Given the description of an element on the screen output the (x, y) to click on. 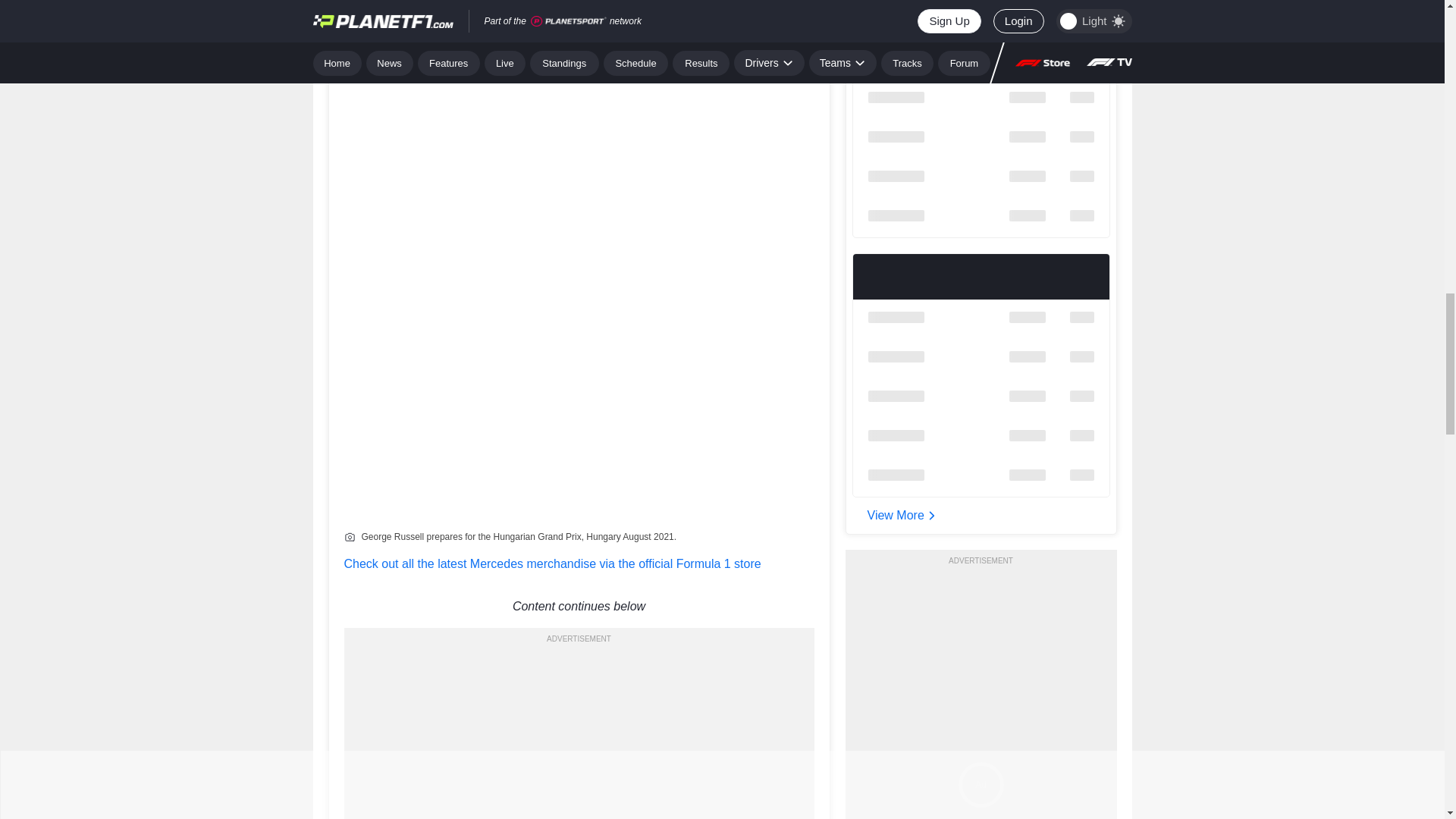
Content continues below (578, 606)
3rd party ad content (579, 733)
